Given the description of an element on the screen output the (x, y) to click on. 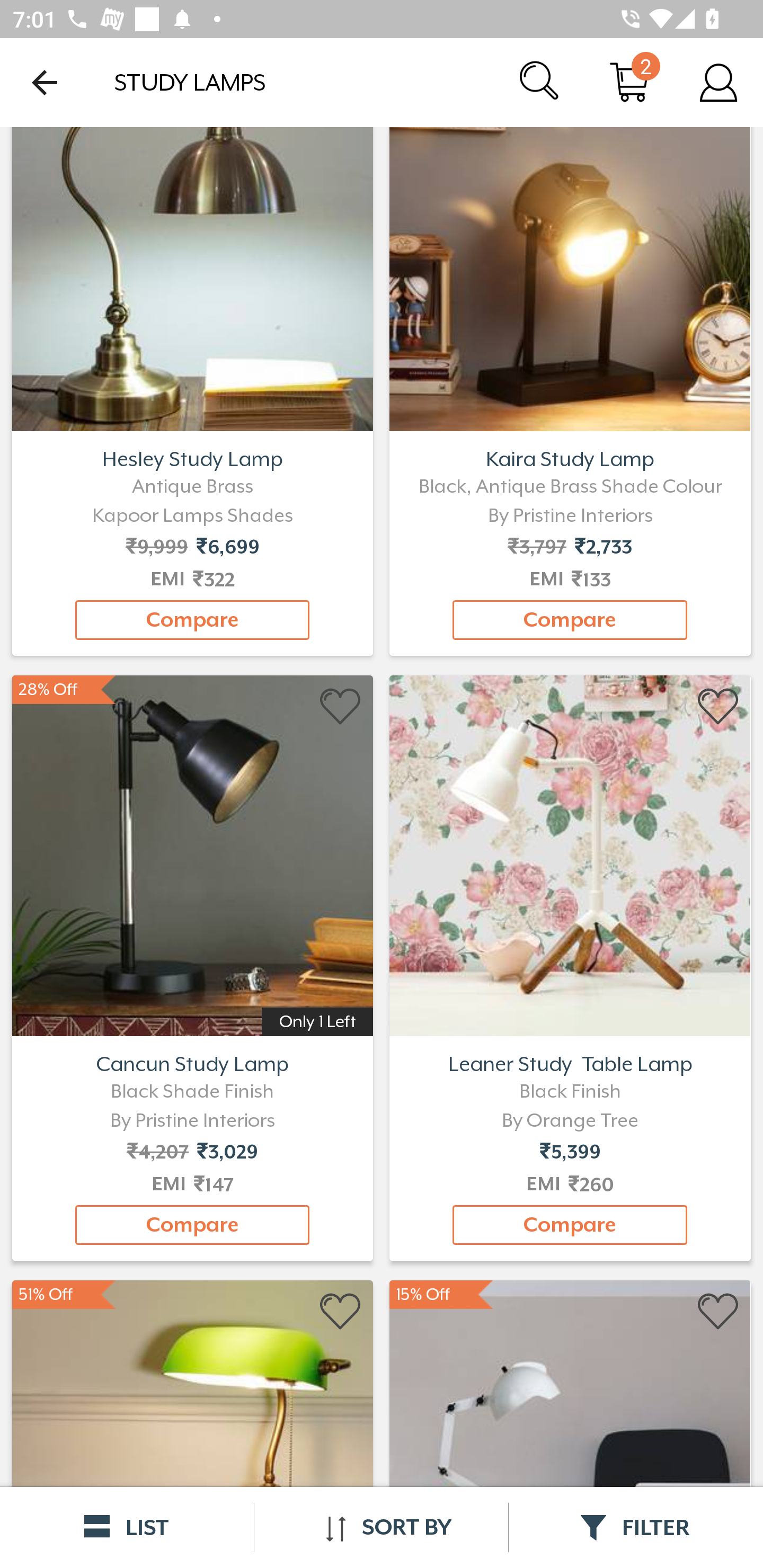
Navigate up (44, 82)
Search (540, 81)
Cart (629, 81)
Account Details (718, 81)
29+ options Study Lamps Starting from  ₹464 (191, 279)
1100+ options Wall Lights Starting from  ₹378 (570, 279)
Compare (192, 619)
Compare (569, 619)
 (341, 706)
 (718, 706)
Compare (192, 1224)
Compare (569, 1224)
51% Off  (191, 1421)
15% Off  (570, 1421)
 (341, 1312)
 (718, 1312)
 LIST (127, 1527)
SORT BY (381, 1527)
 FILTER (635, 1527)
